Given the description of an element on the screen output the (x, y) to click on. 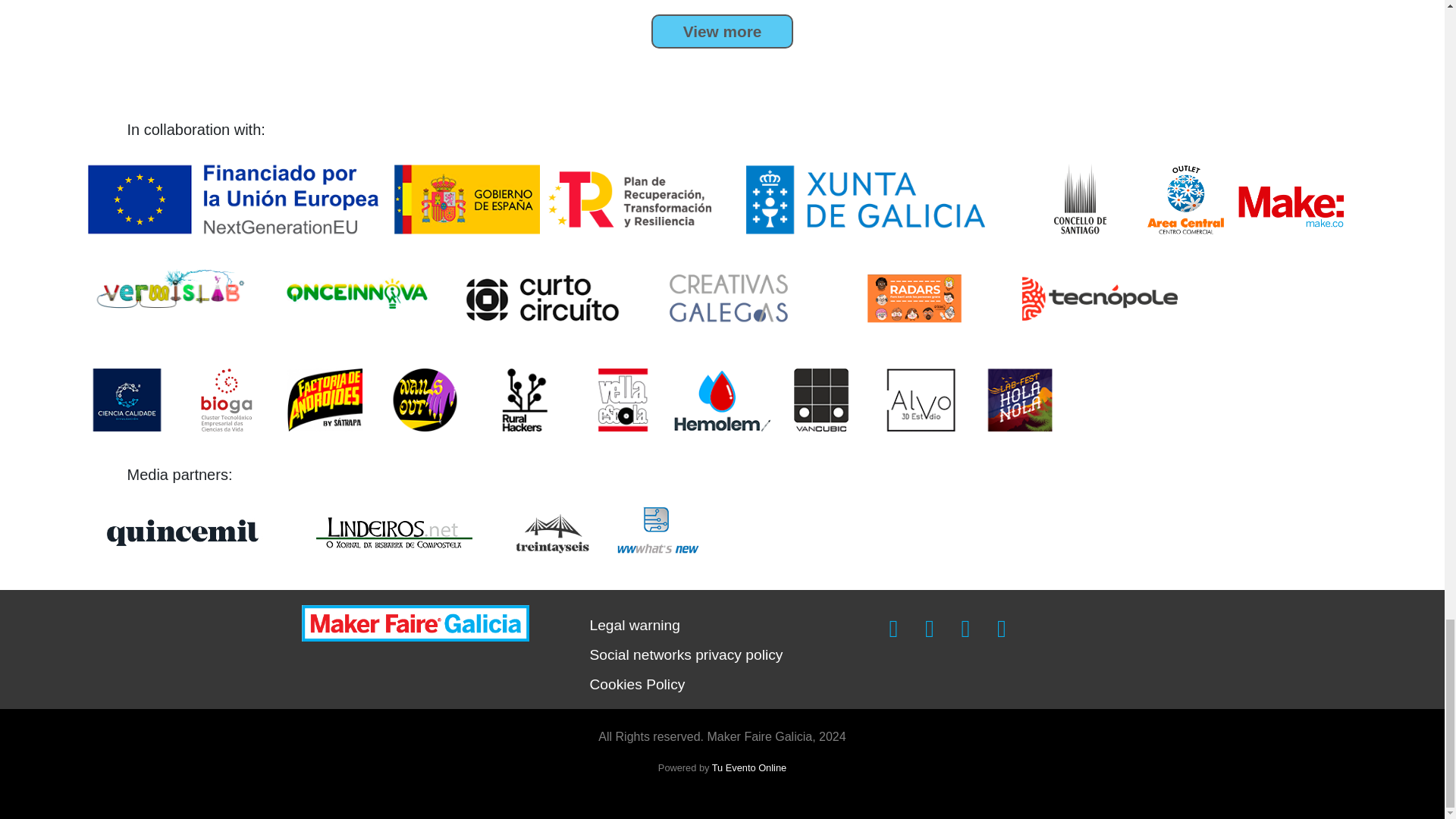
Blog (721, 31)
NextGeneration EU (235, 197)
View more (721, 31)
View more (721, 31)
